Given the description of an element on the screen output the (x, y) to click on. 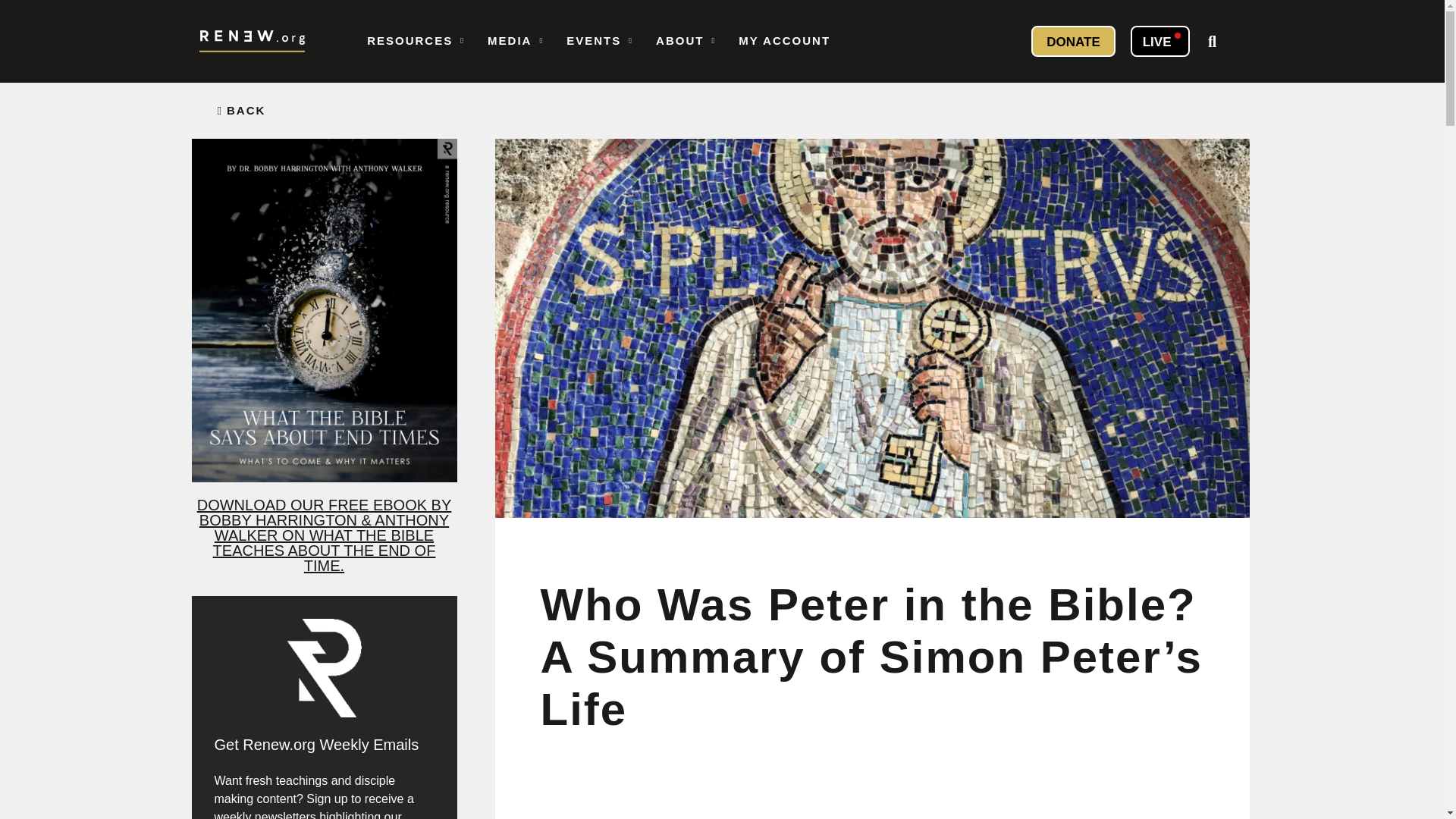
search-button (1212, 40)
RESOURCES (415, 40)
MEDIA (515, 40)
EVENTS (599, 40)
MY ACCOUNT (784, 40)
ABOUT (685, 40)
